Given the description of an element on the screen output the (x, y) to click on. 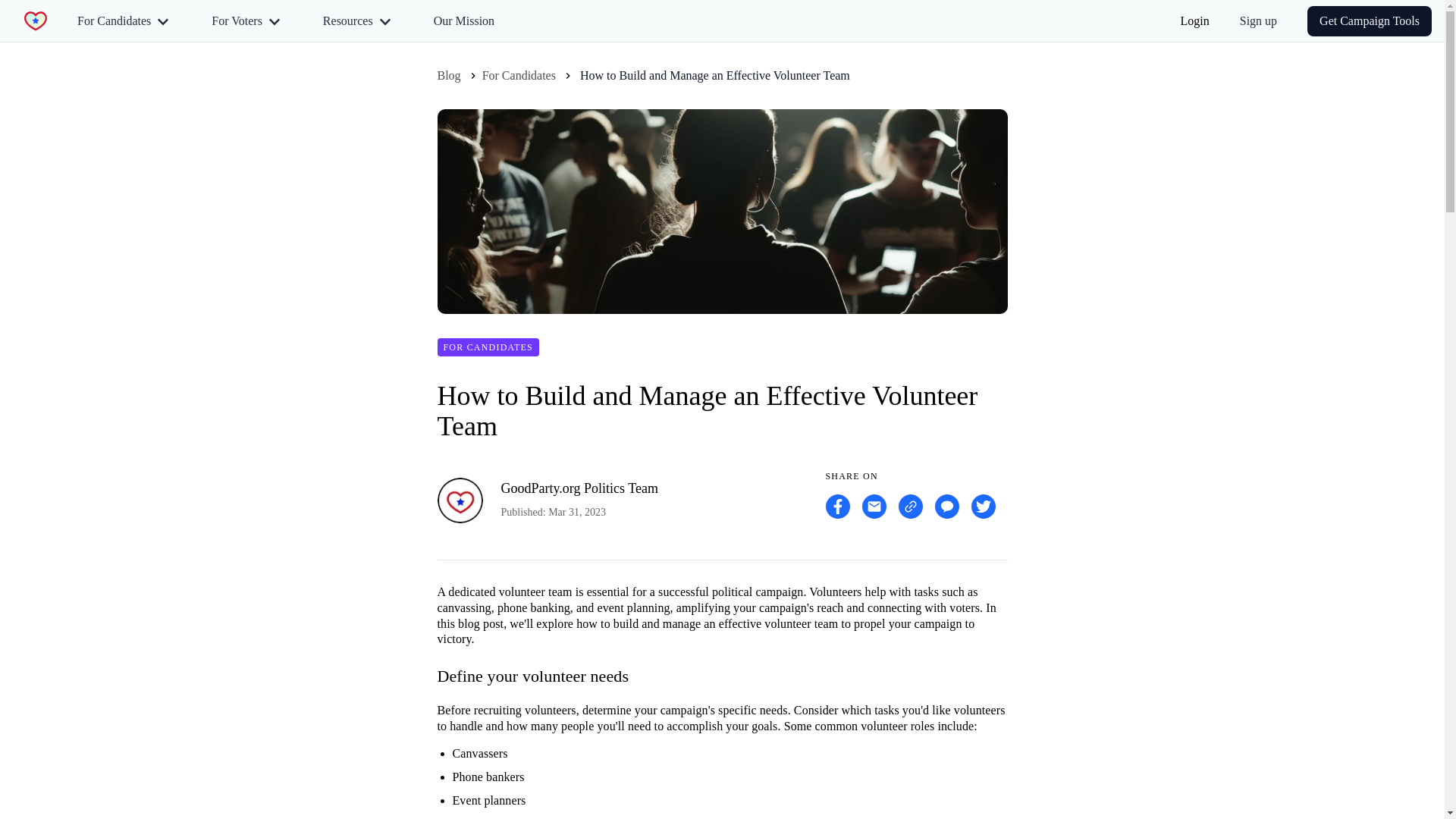
Get Campaign Tools (1369, 20)
For Candidates (122, 20)
Sign up (1257, 20)
Blog (448, 75)
For Voters (245, 20)
Our Mission (464, 20)
Login (1194, 21)
For Candidates (518, 75)
Resources (357, 20)
